Given the description of an element on the screen output the (x, y) to click on. 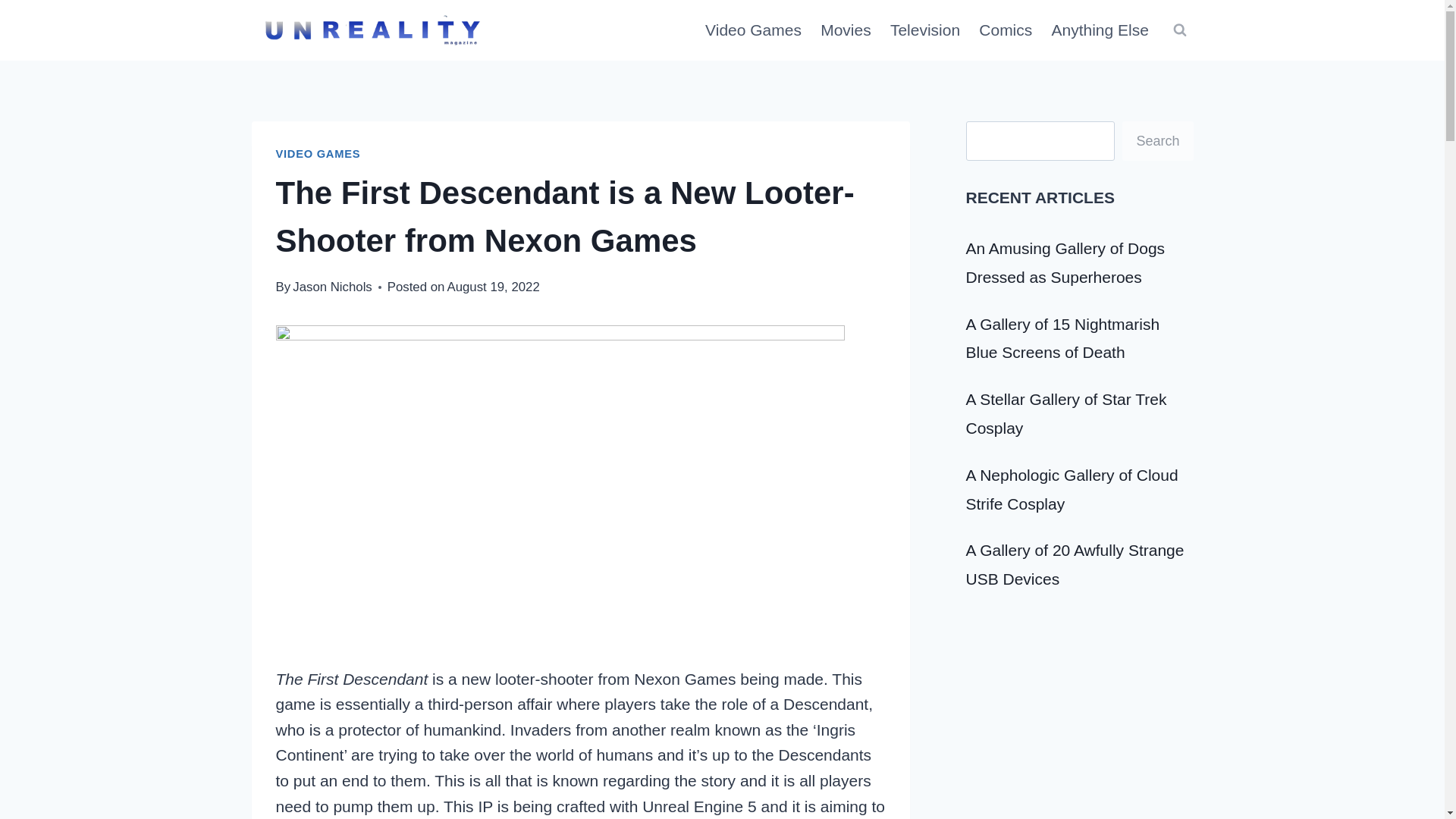
Jason Nichols (331, 287)
Movies (845, 30)
Video Games (752, 30)
Anything Else (1100, 30)
VIDEO GAMES (318, 153)
Comics (1005, 30)
Television (924, 30)
